Given the description of an element on the screen output the (x, y) to click on. 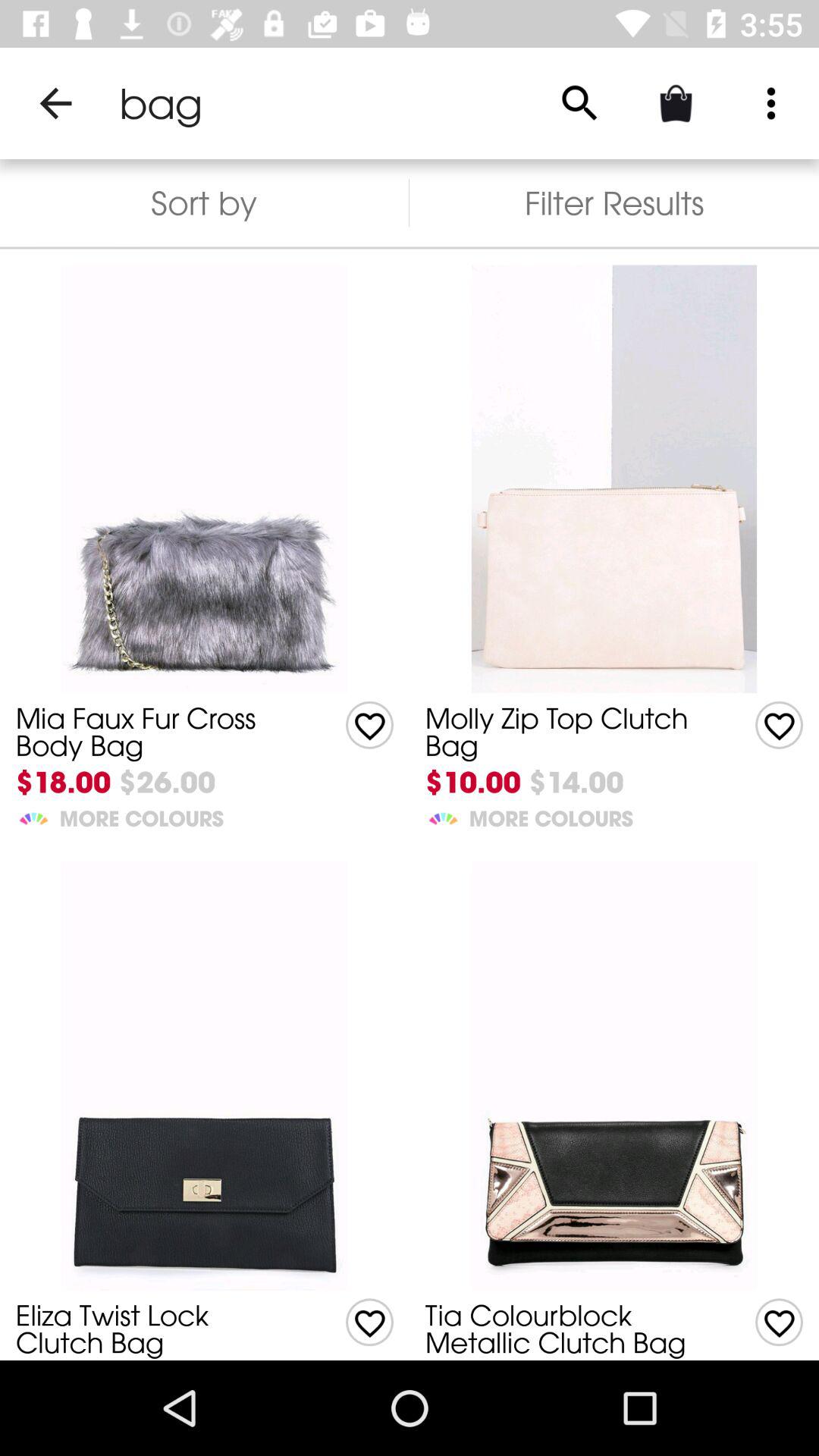
click the item to the right of sort by item (579, 103)
